Given the description of an element on the screen output the (x, y) to click on. 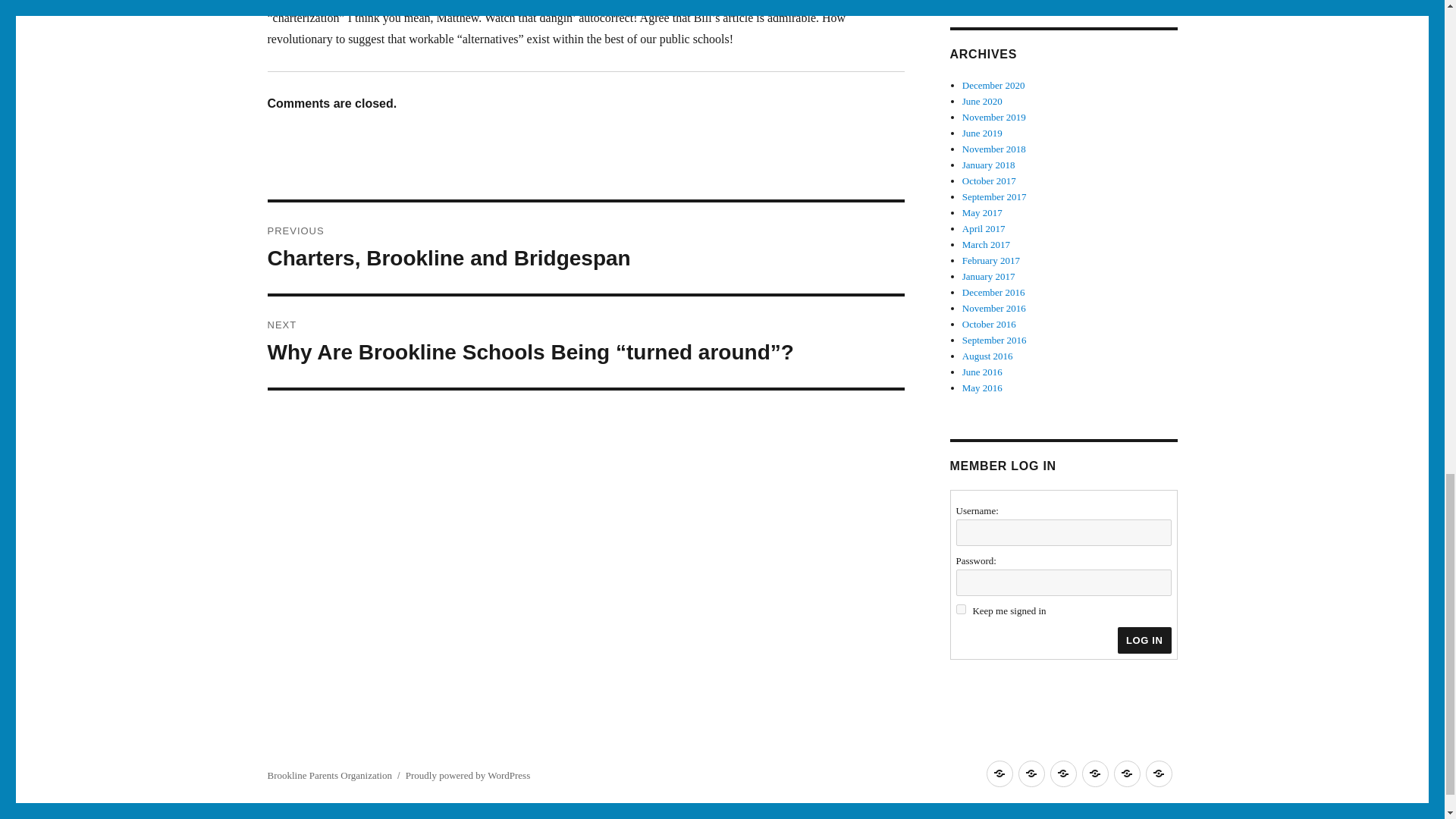
forever (960, 609)
